Given the description of an element on the screen output the (x, y) to click on. 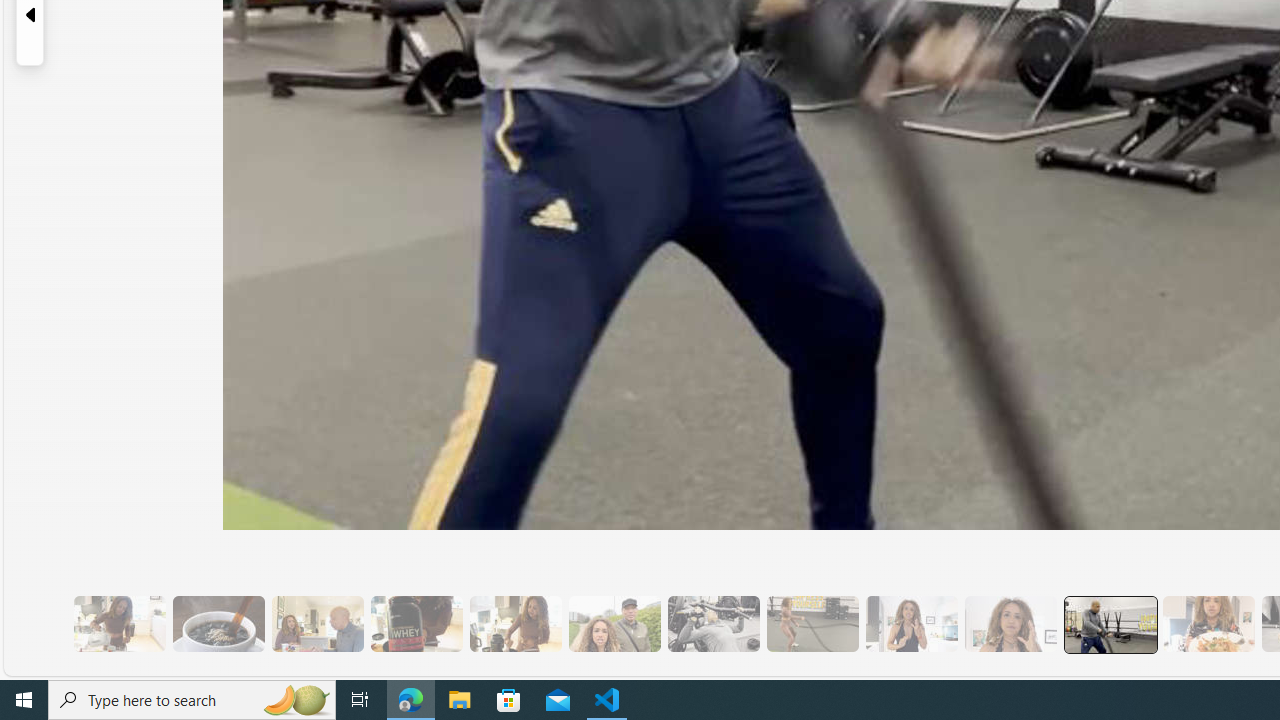
13 Her Husband Does Group Cardio Classs (1108, 624)
6 Since Eating More Protein Her Training Has Improved (416, 624)
5 She Eats Less Than Her Husband (317, 624)
9 They Do Bench Exercises (713, 624)
6 Since Eating More Protein Her Training Has Improved (416, 624)
11 They Eat More Protein for Breakfast (911, 624)
7 They Don't Skip Meals (514, 624)
13 Her Husband Does Group Cardio Classs (1110, 624)
10 Then, They Do HIIT Cardio (811, 624)
14 They Have Salmon and Veggies for Dinner (1208, 624)
8 Be Mindful of Coffee (217, 624)
3 They Drink Lemon Tea (119, 624)
11 They Eat More Protein for Breakfast (911, 624)
5 She Eats Less Than Her Husband (317, 624)
